Given the description of an element on the screen output the (x, y) to click on. 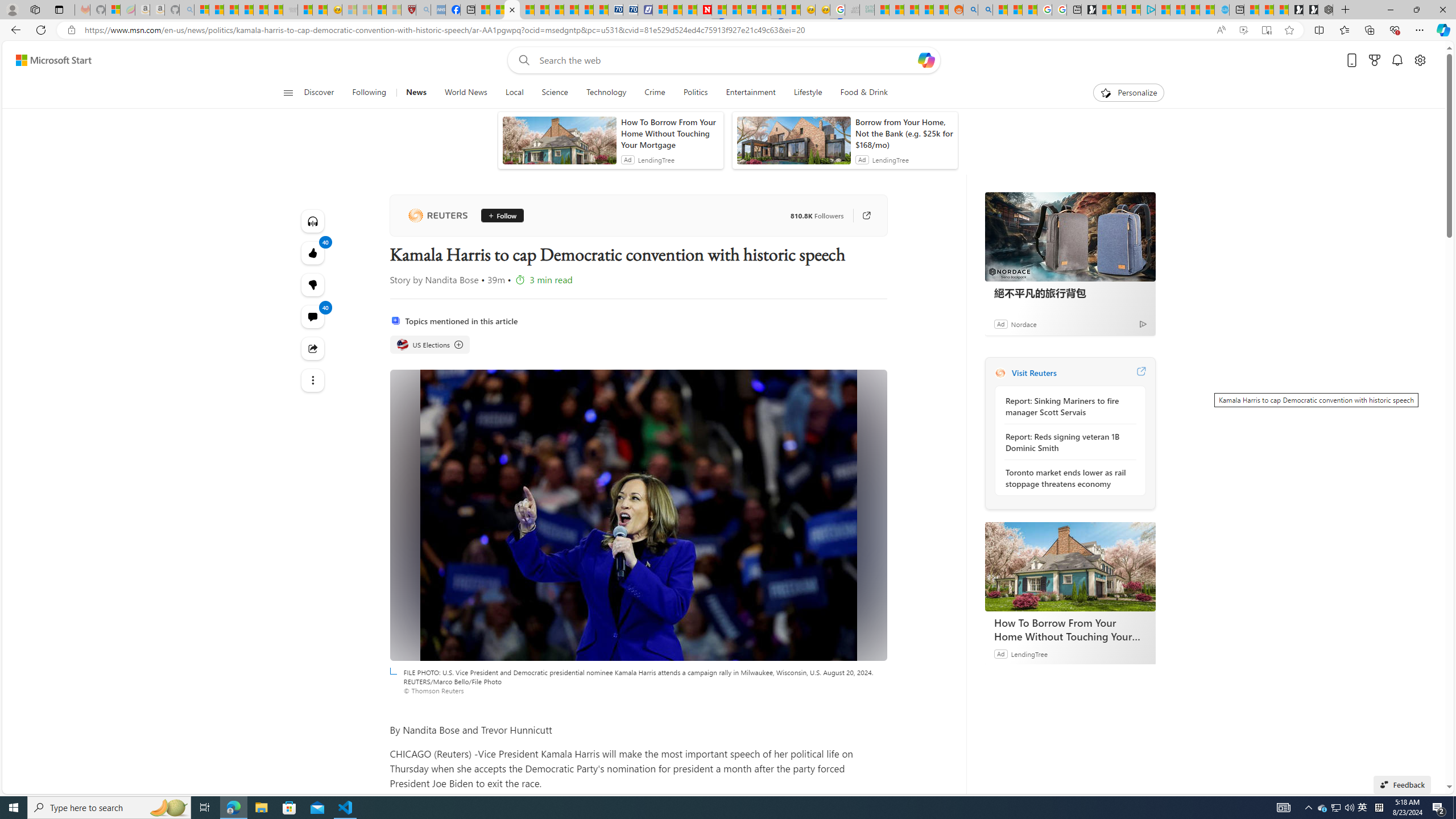
Crime (655, 92)
Cheap Hotels - Save70.com (630, 9)
LendingTree (1029, 653)
Personalize (1128, 92)
Reuters (1000, 372)
World News (465, 92)
